Given the description of an element on the screen output the (x, y) to click on. 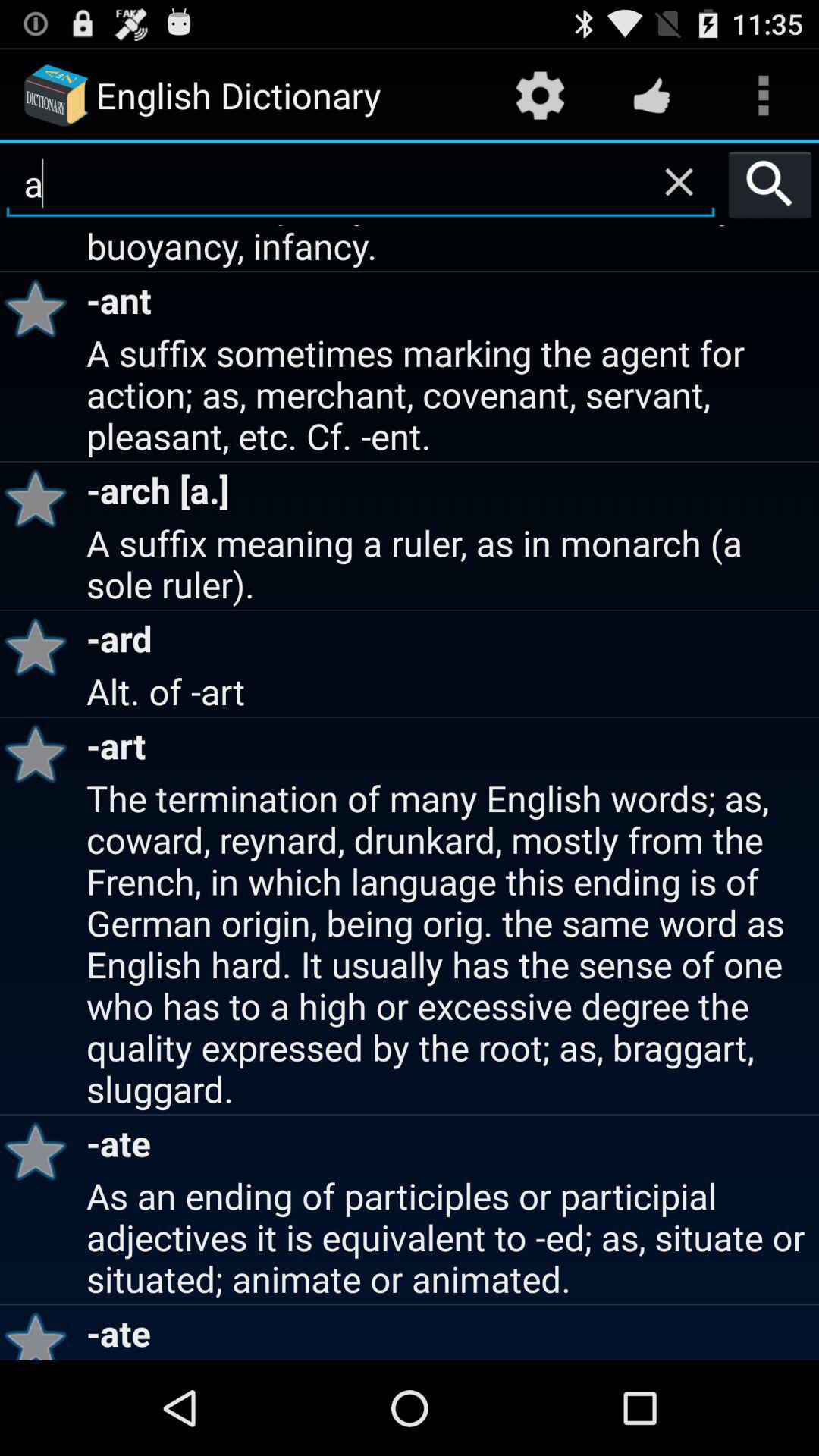
open app to the left of a suffix expressing (41, 308)
